Given the description of an element on the screen output the (x, y) to click on. 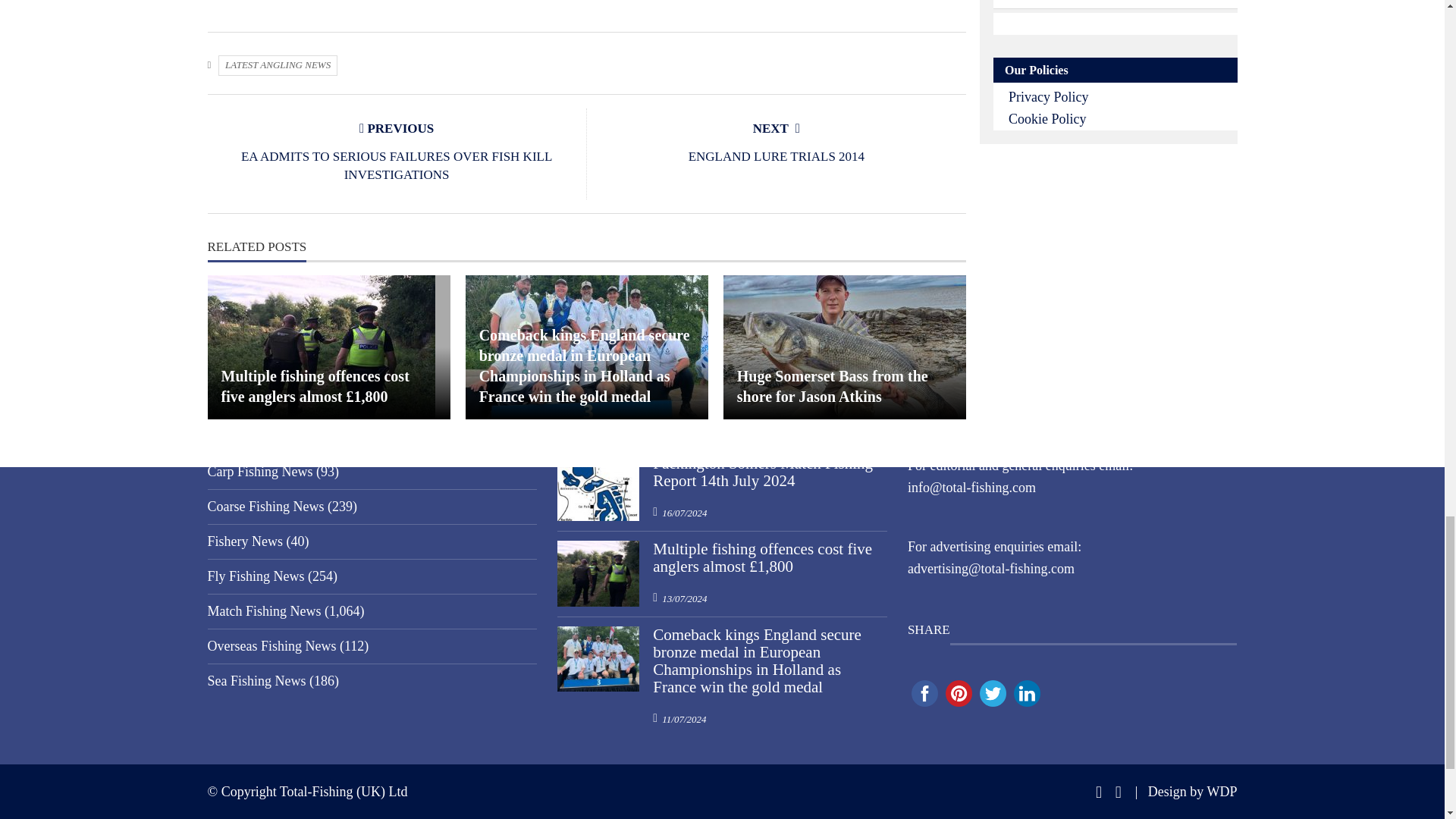
Cookie Policy (1047, 118)
Privacy Policy (1049, 96)
